Given the description of an element on the screen output the (x, y) to click on. 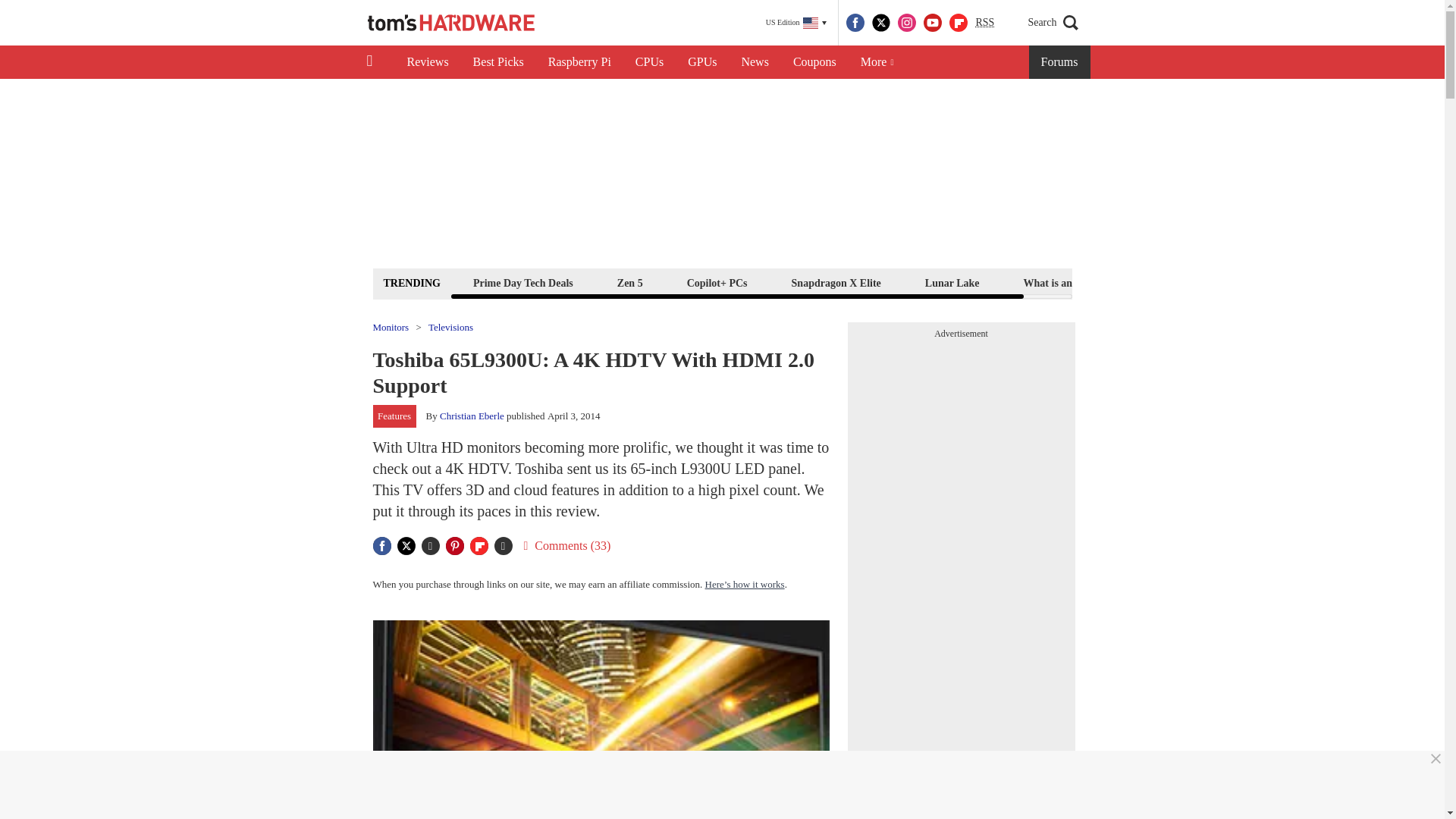
Reviews (427, 61)
News (754, 61)
CPUs (649, 61)
Raspberry Pi (579, 61)
Really Simple Syndication (984, 21)
US Edition (796, 22)
Coupons (814, 61)
RSS (984, 22)
Forums (1059, 61)
GPUs (702, 61)
Prime Day Tech Deals (522, 282)
